Given the description of an element on the screen output the (x, y) to click on. 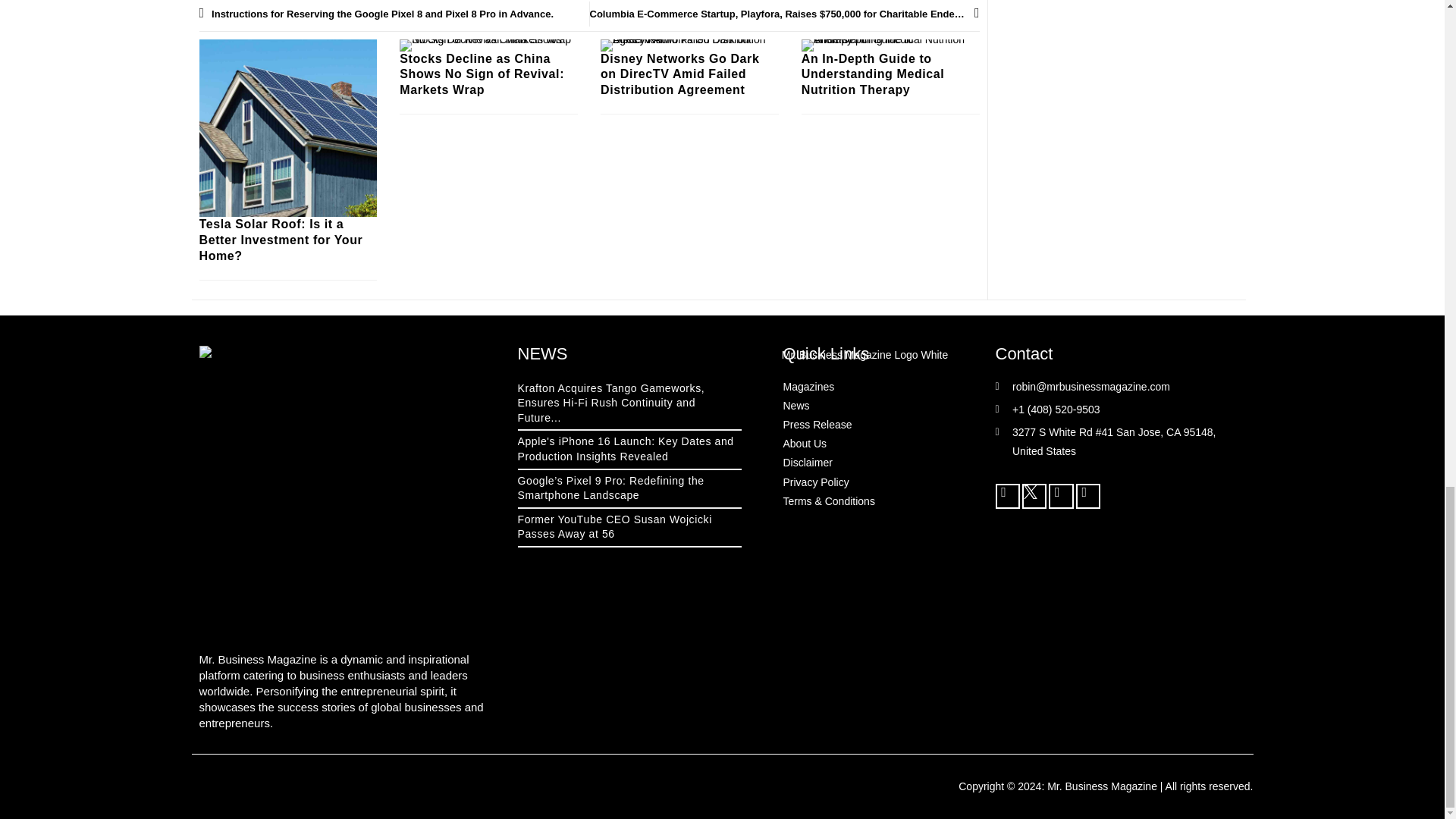
Tesla Solar Roof: Is it a Better Investment for Your Home? (280, 239)
